Given the description of an element on the screen output the (x, y) to click on. 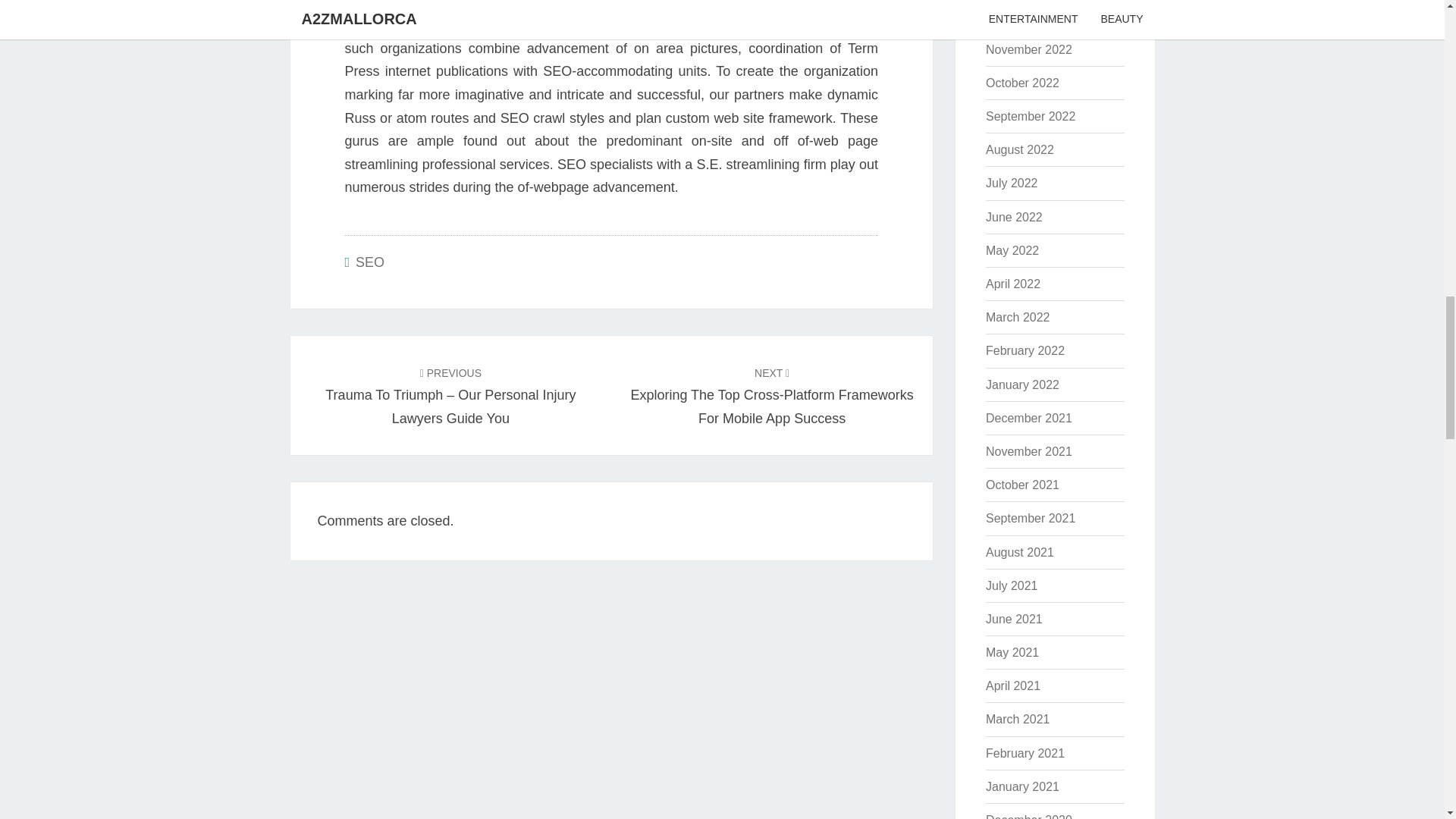
June 2022 (1013, 216)
November 2022 (1028, 49)
October 2022 (1022, 82)
SEO (369, 262)
May 2022 (1012, 250)
August 2022 (1019, 149)
December 2022 (1028, 15)
July 2022 (1011, 182)
September 2022 (1030, 115)
